Given the description of an element on the screen output the (x, y) to click on. 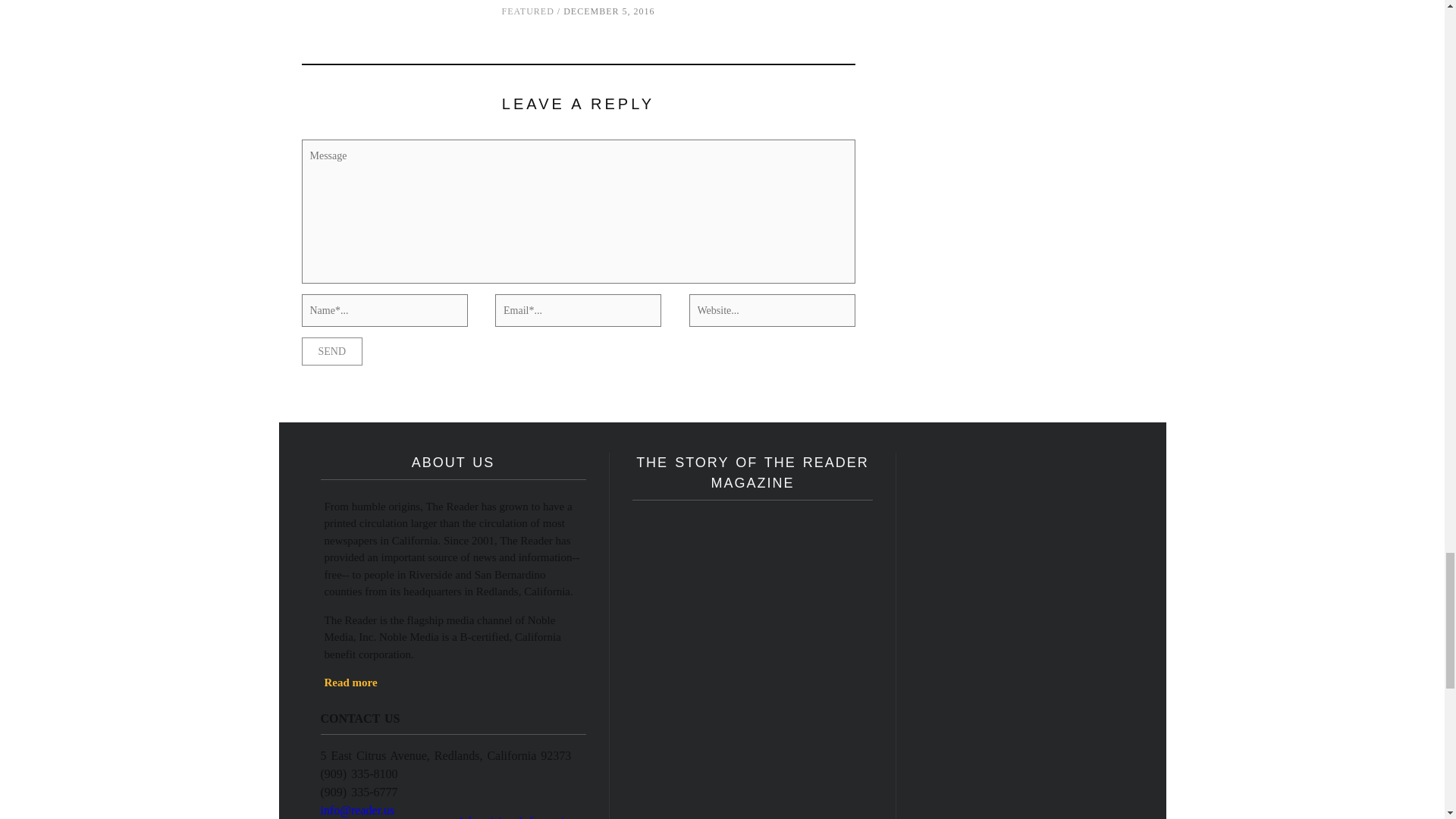
Send (331, 351)
